Given the description of an element on the screen output the (x, y) to click on. 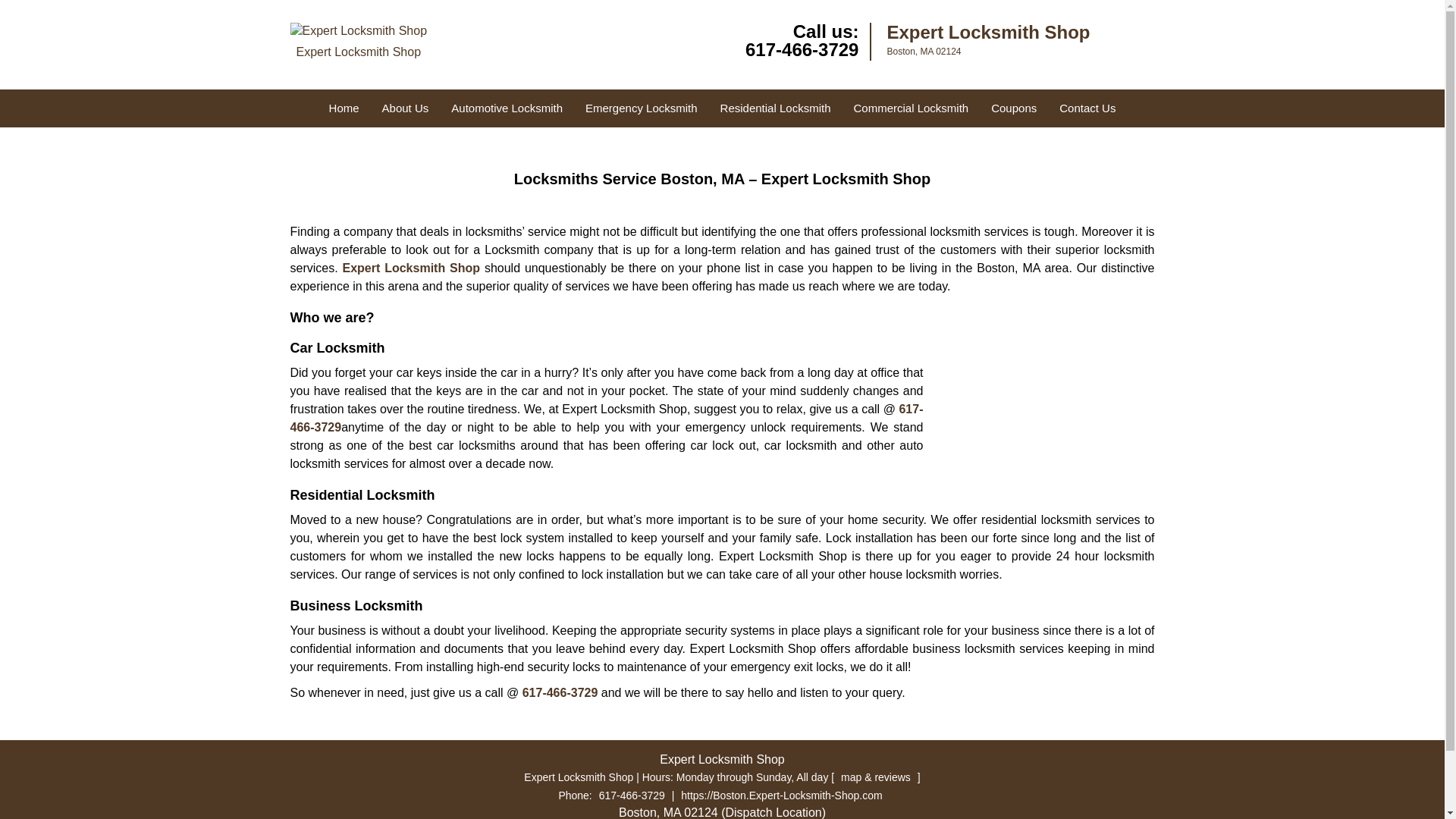
Residential Locksmith (776, 108)
Automotive Locksmith (506, 108)
617-466-3729 (802, 49)
Expert Locksmith Shop (411, 267)
617-466-3729 (631, 795)
Coupons (1013, 108)
Commercial Locksmith (910, 108)
Contact Us (1087, 108)
617-466-3729 (606, 418)
Expert Locksmith Shop (357, 43)
Home (344, 108)
About Us (406, 108)
Emergency Locksmith (641, 108)
617-466-3729 (560, 692)
